Given the description of an element on the screen output the (x, y) to click on. 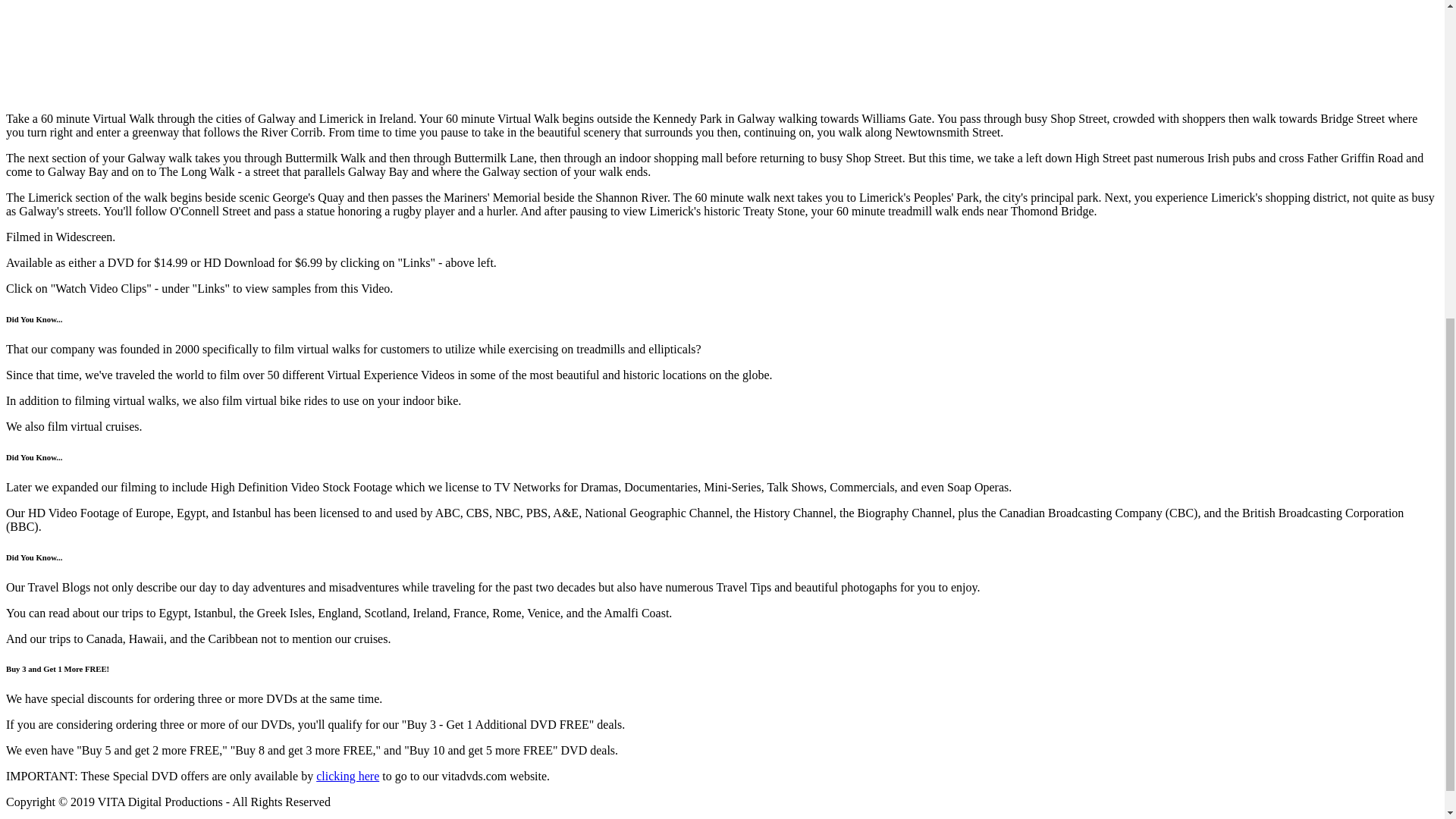
clicking here (346, 775)
